Given the description of an element on the screen output the (x, y) to click on. 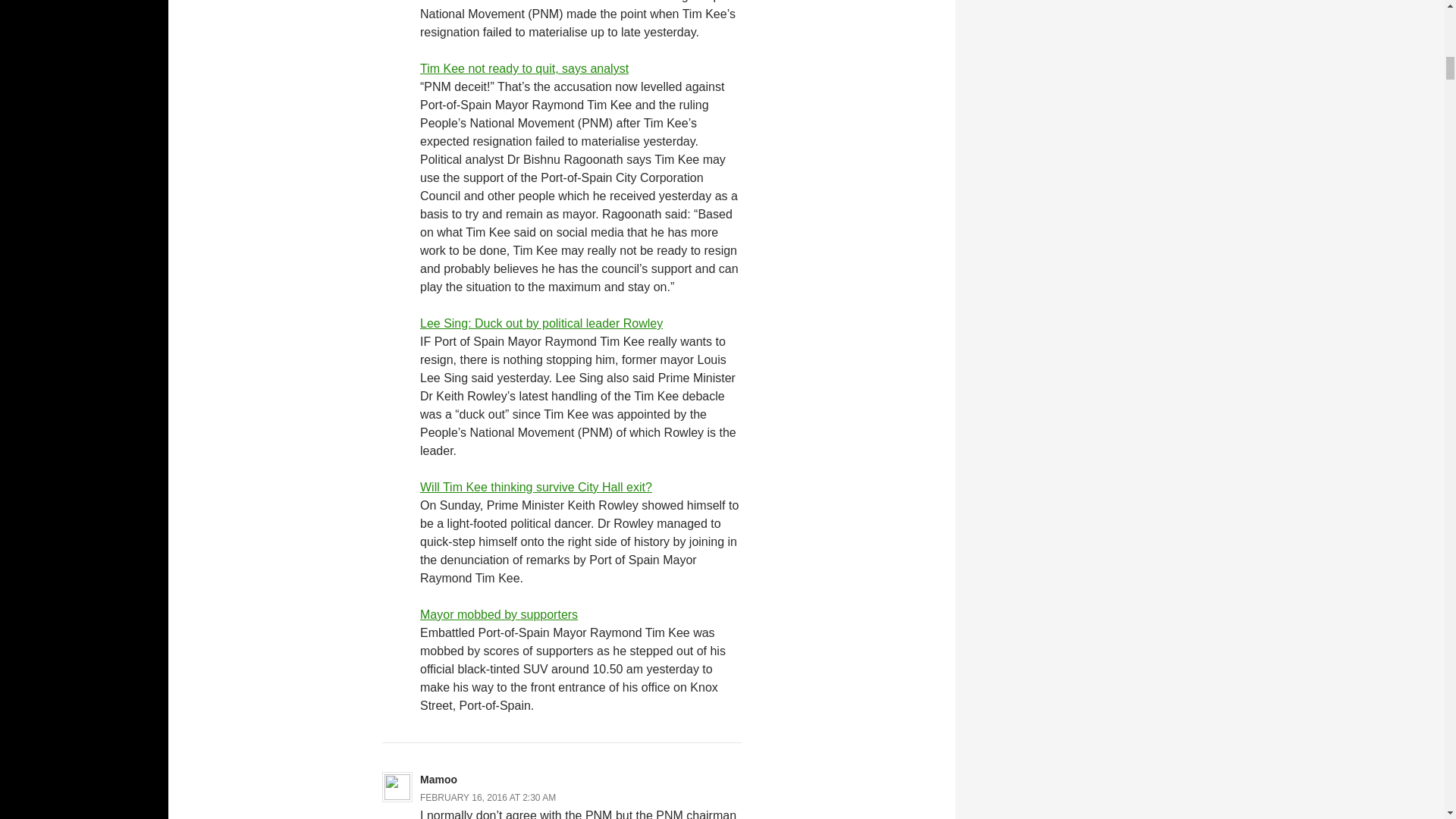
Will Tim Kee thinking survive City Hall exit? (536, 486)
Lee Sing: Duck out by political leader Rowley (541, 323)
Tim Kee not ready to quit, says analyst (524, 68)
